Given the description of an element on the screen output the (x, y) to click on. 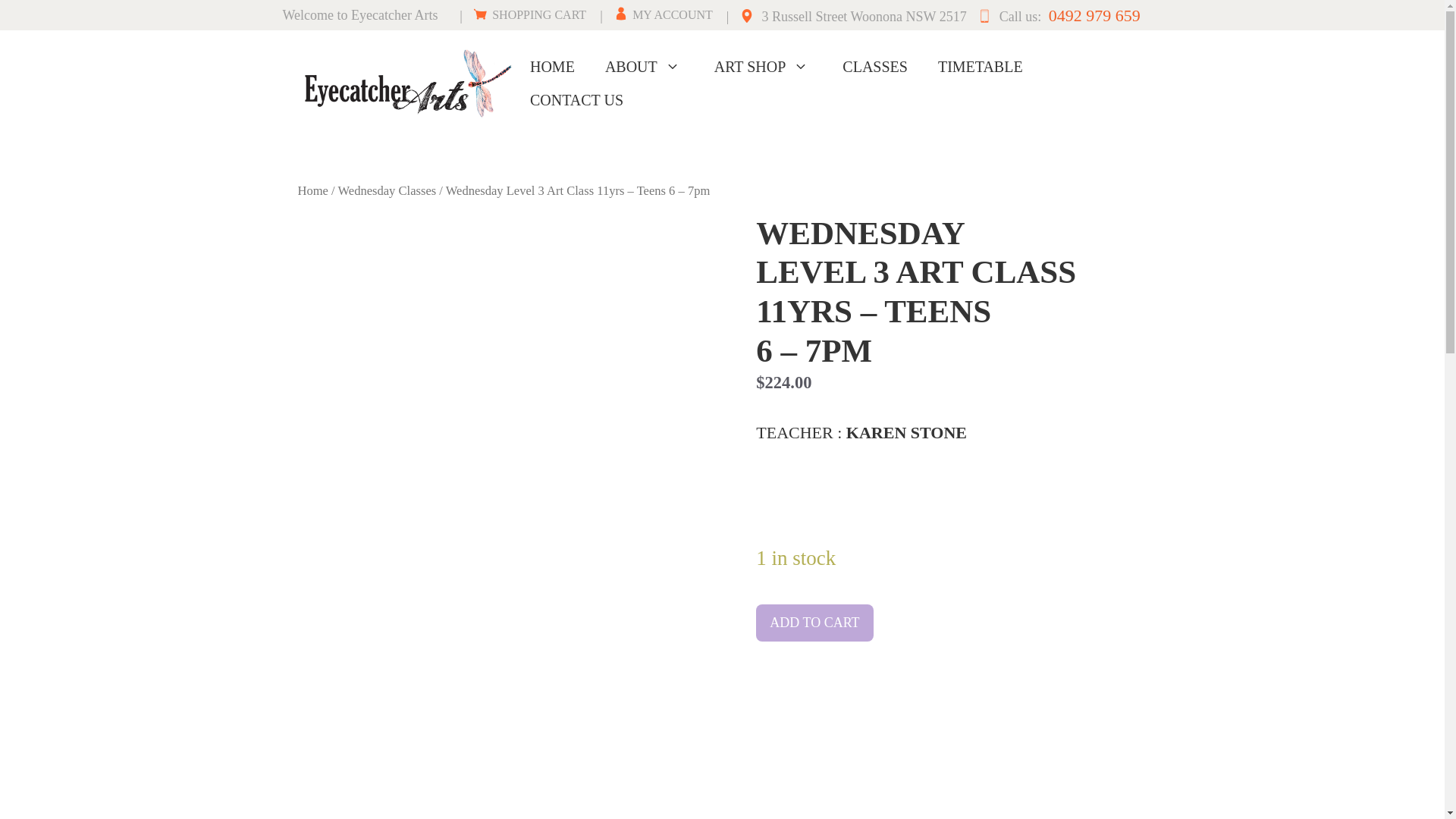
SHOPPING CART (529, 15)
TIMETABLE (979, 66)
CONTACT US (576, 100)
0492 979 659 (1092, 15)
HOME (552, 66)
ART SHOP (763, 66)
CLASSES (874, 66)
Wednesday Classes (386, 190)
MY ACCOUNT (662, 15)
ADD TO CART (813, 622)
Home (312, 190)
ABOUT (644, 66)
